Given the description of an element on the screen output the (x, y) to click on. 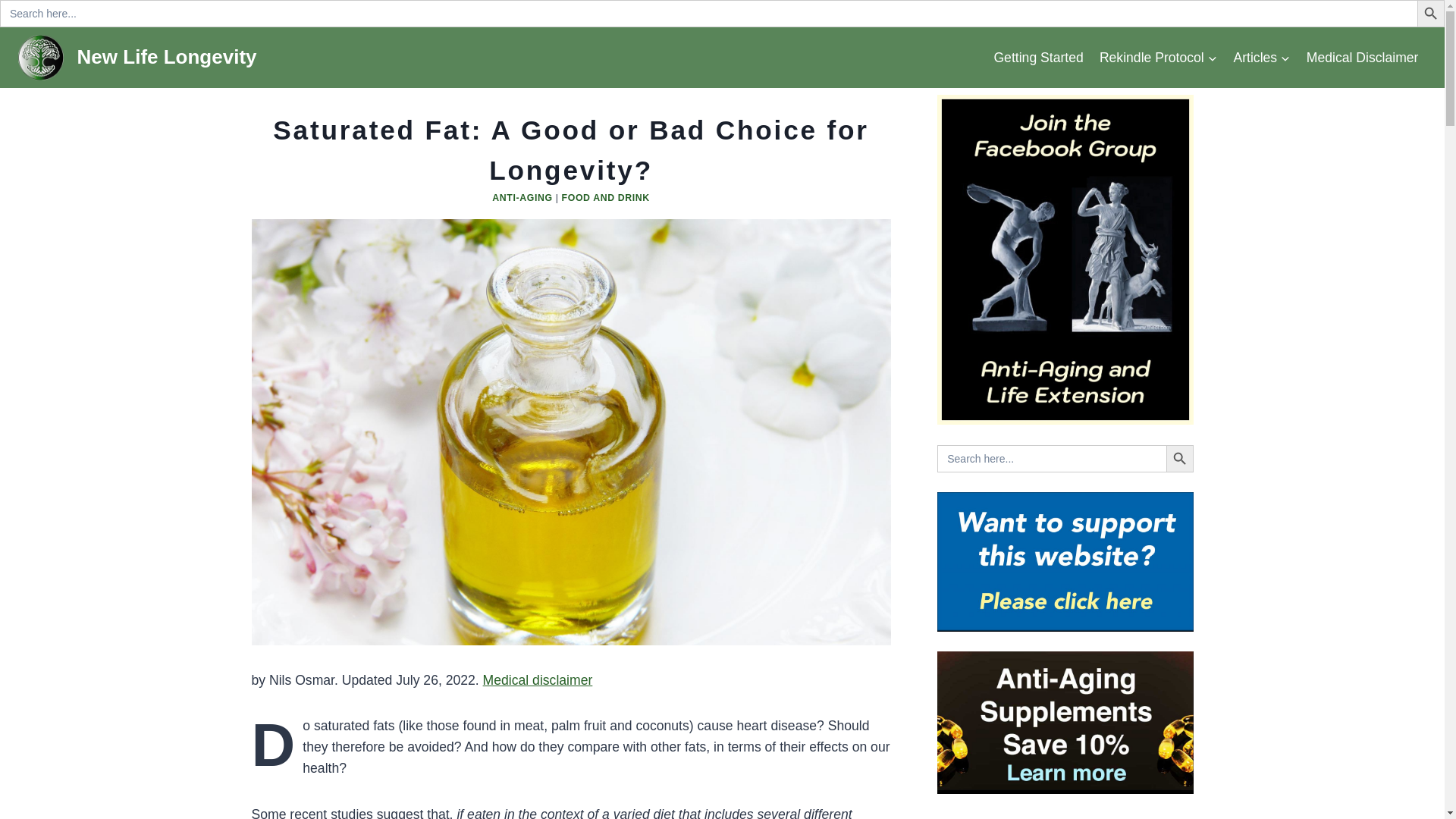
Getting Started (1037, 57)
FOOD AND DRINK (605, 197)
ANTI-AGING (521, 197)
Medical Disclaimer (1362, 57)
Articles (1261, 57)
New Life Longevity (137, 57)
Rekindle Protocol (1157, 57)
Medical disclaimer (537, 679)
